Given the description of an element on the screen output the (x, y) to click on. 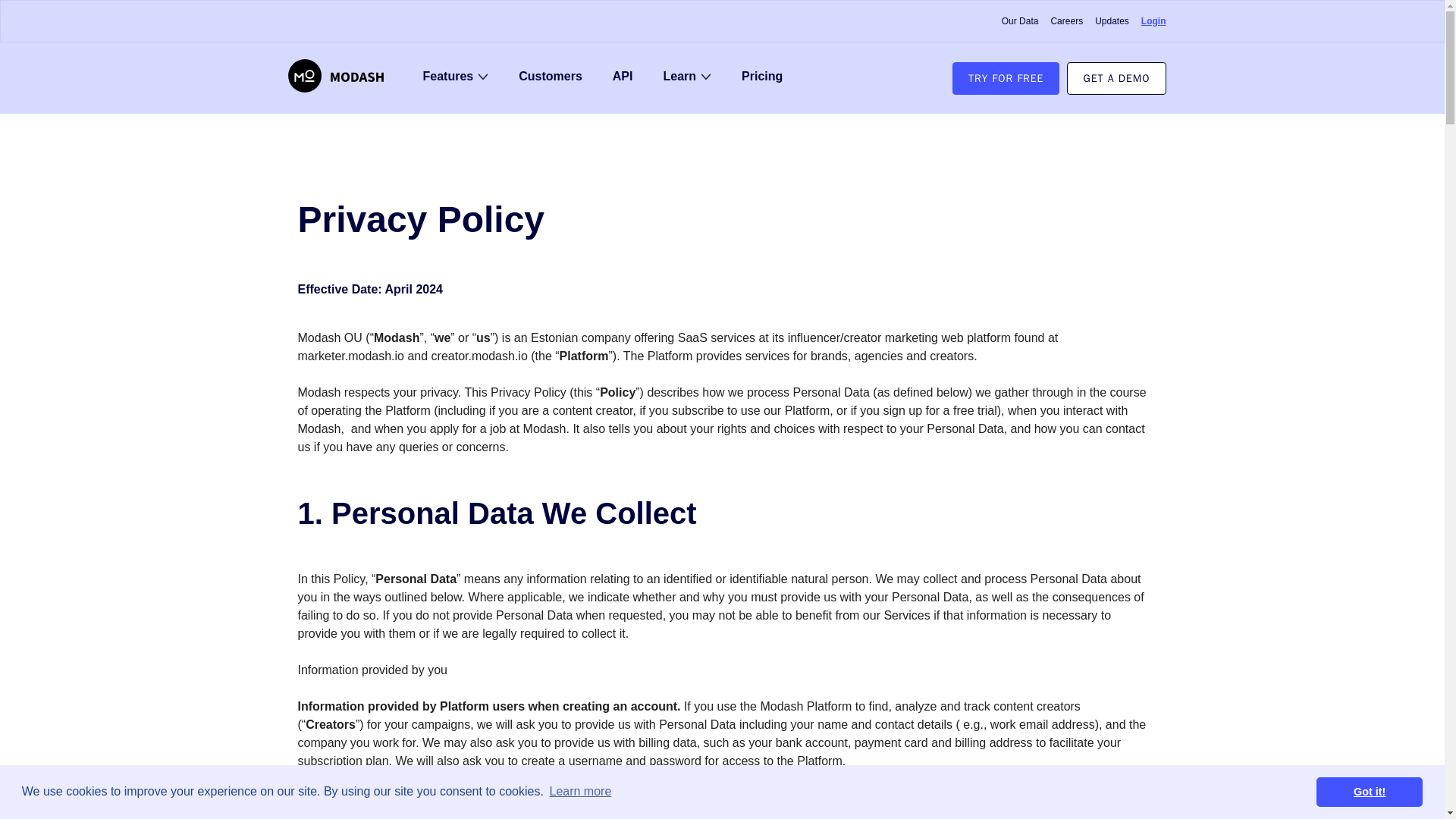
API (622, 76)
Customers (550, 76)
Updates (1111, 20)
Pricing (762, 76)
TRY FOR FREE (1005, 78)
Got it! (1369, 791)
Our Data (1020, 20)
Careers (1066, 20)
GET A DEMO (1116, 78)
Login (1153, 20)
